Given the description of an element on the screen output the (x, y) to click on. 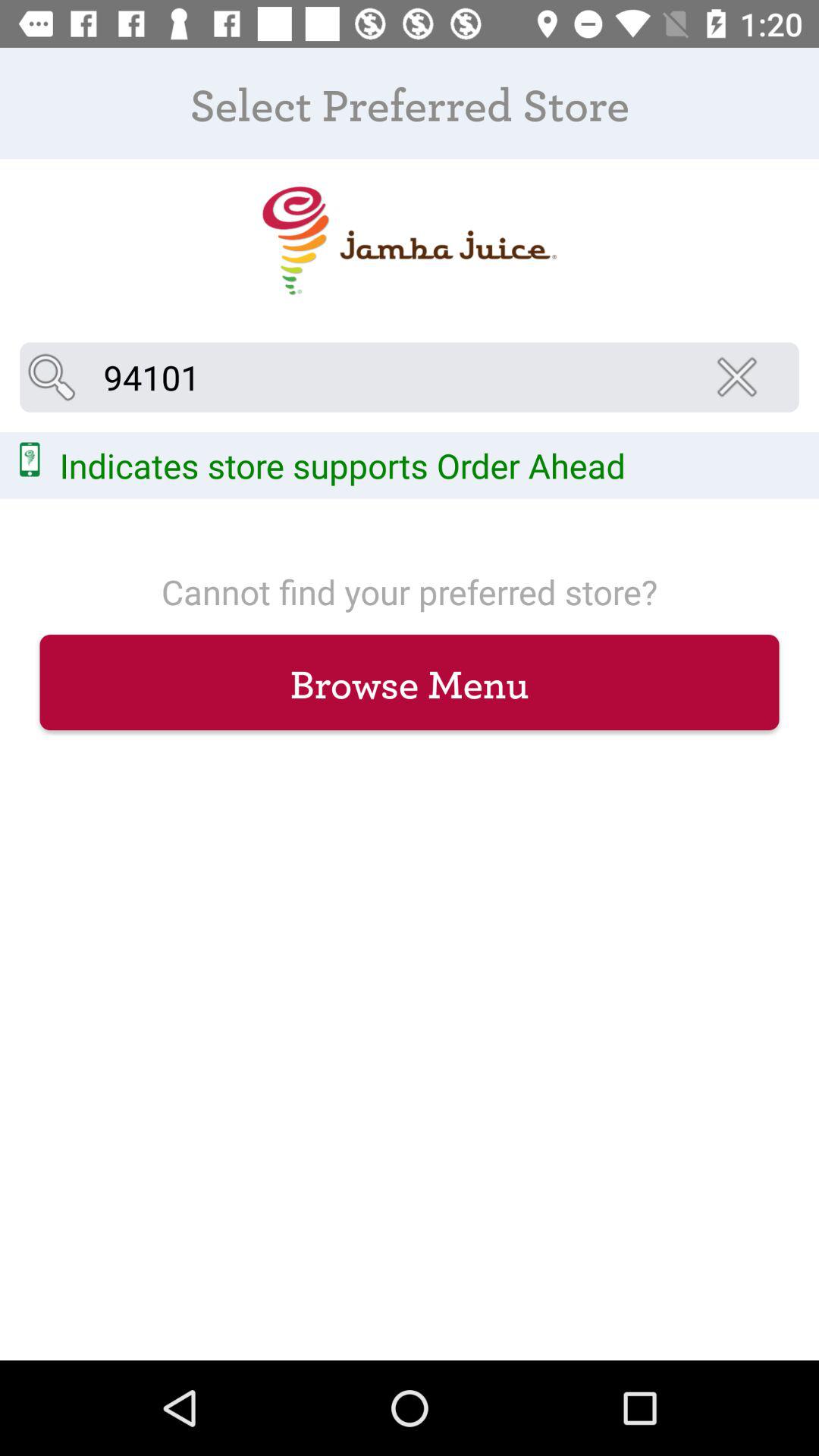
press 94101 (409, 377)
